Given the description of an element on the screen output the (x, y) to click on. 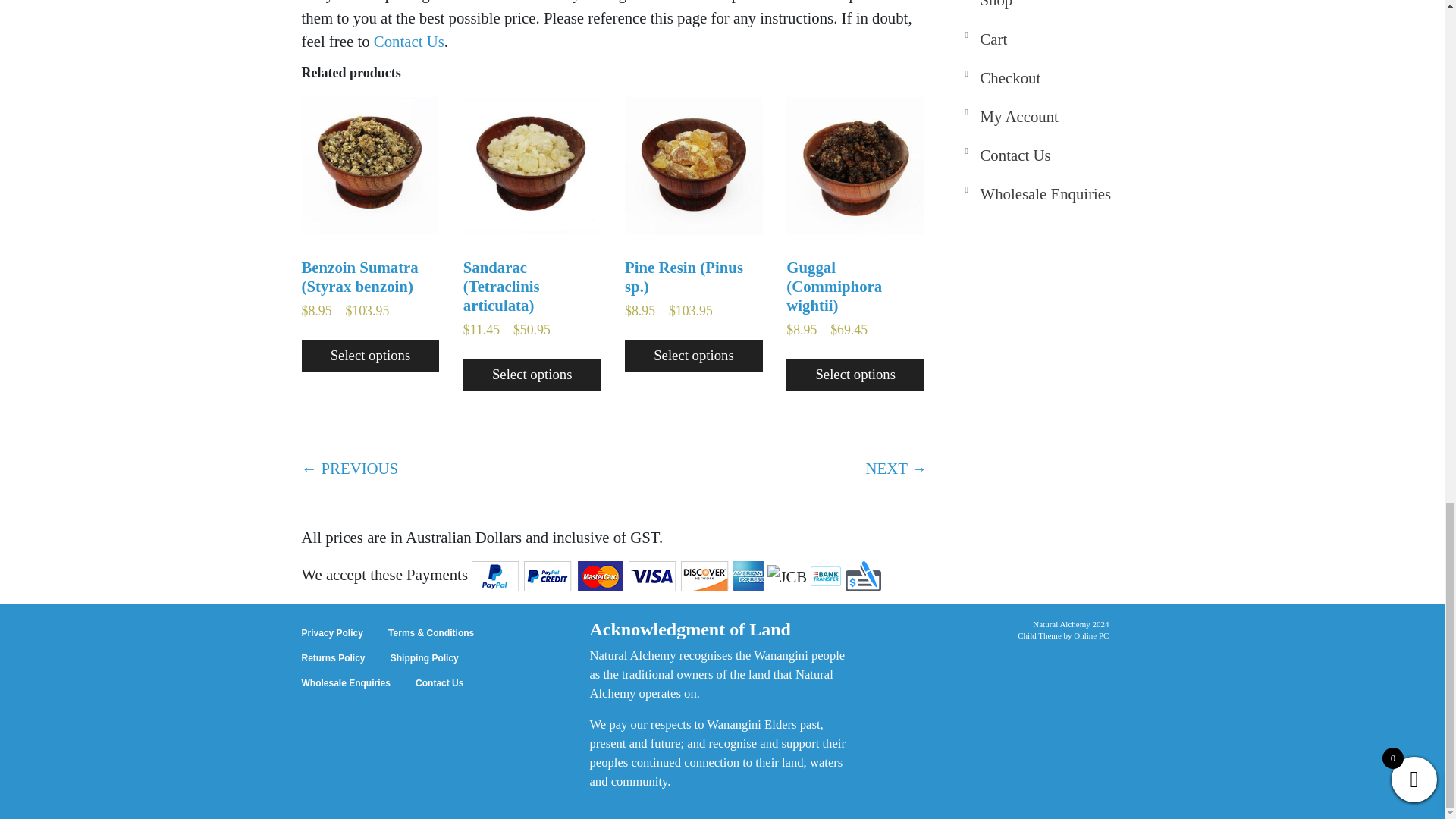
Select options (693, 355)
Direct Deposit (825, 576)
Select options (370, 355)
Select options (532, 374)
Cheque (862, 576)
Contact Us (409, 40)
